Given the description of an element on the screen output the (x, y) to click on. 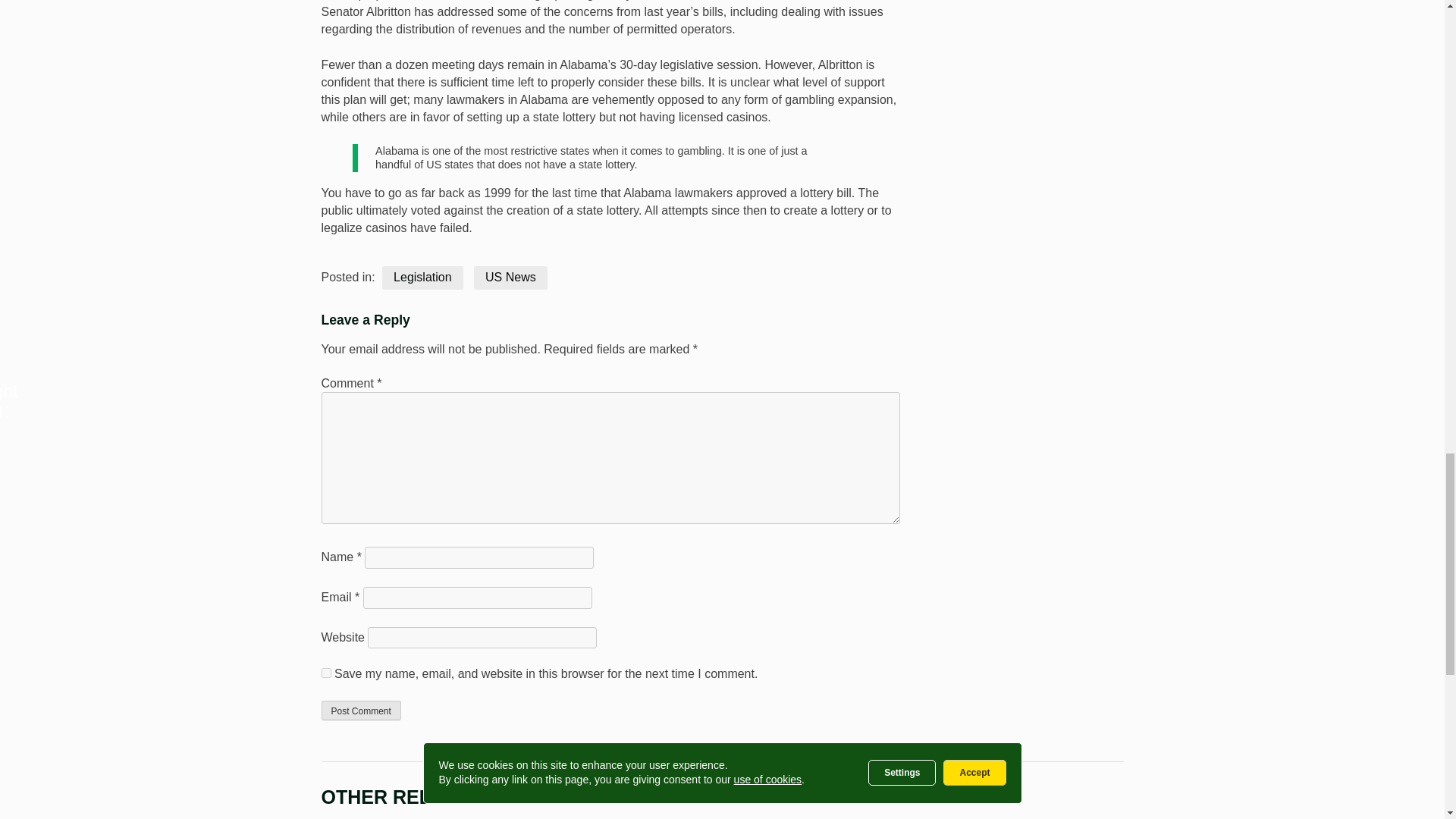
US News (510, 277)
Post Comment (361, 710)
Post Comment (361, 710)
Legislation (422, 277)
yes (326, 673)
